Given the description of an element on the screen output the (x, y) to click on. 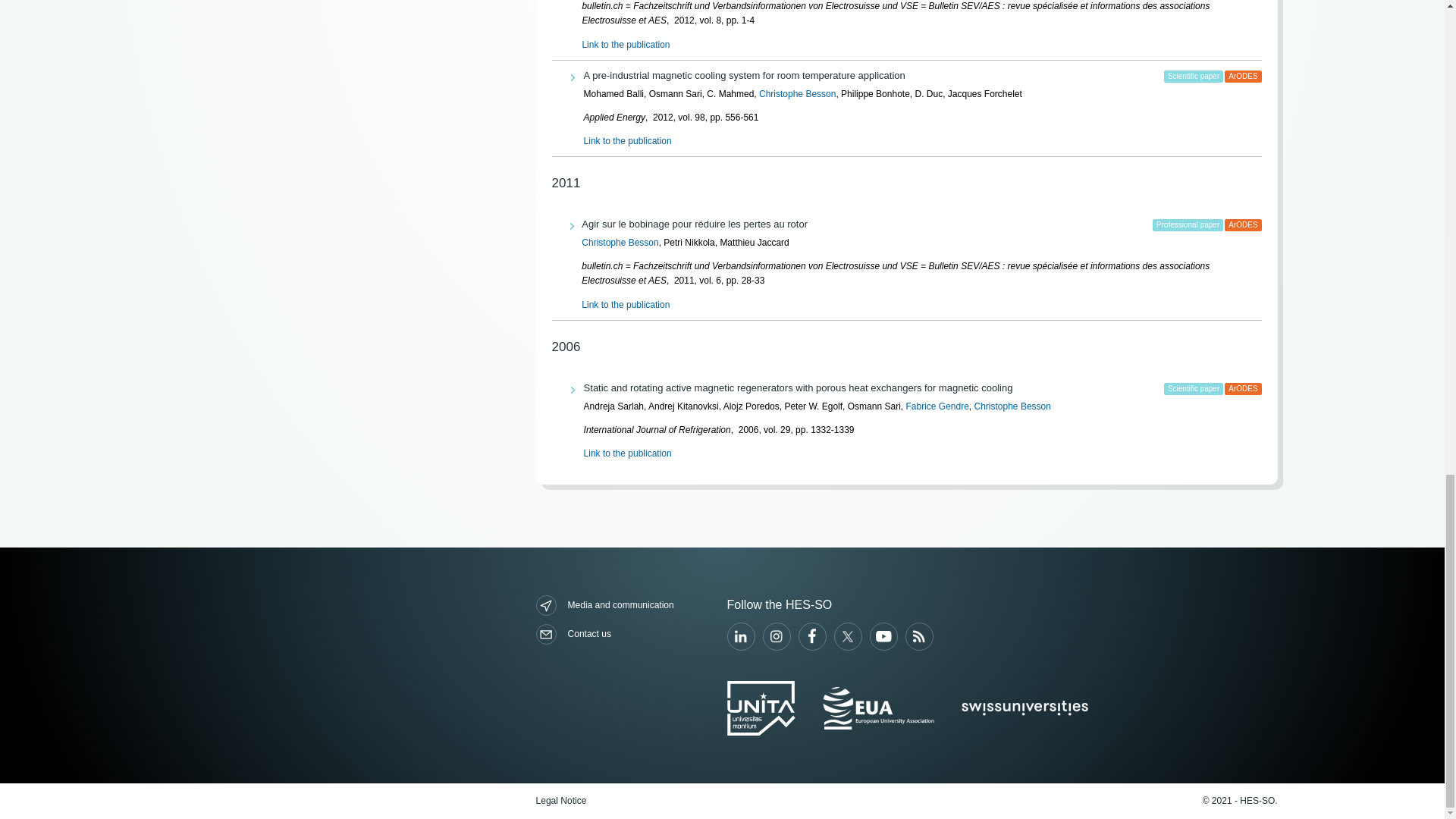
Link to the publication (624, 44)
univ-unita.eu (760, 707)
www.swissuniversities.ch (1023, 708)
www.eua.be (878, 708)
